Given the description of an element on the screen output the (x, y) to click on. 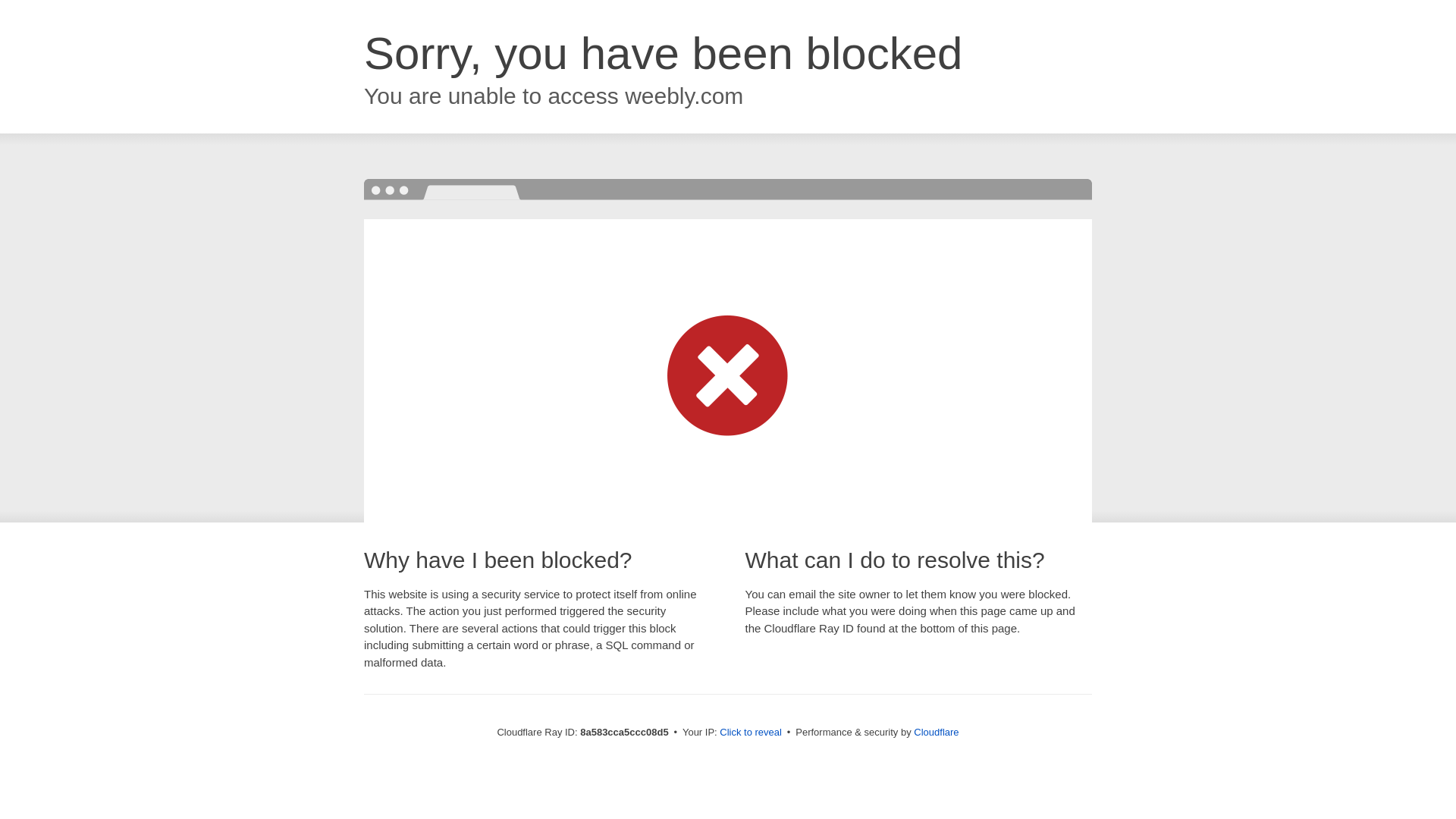
Click to reveal (750, 732)
Cloudflare (936, 731)
